Given the description of an element on the screen output the (x, y) to click on. 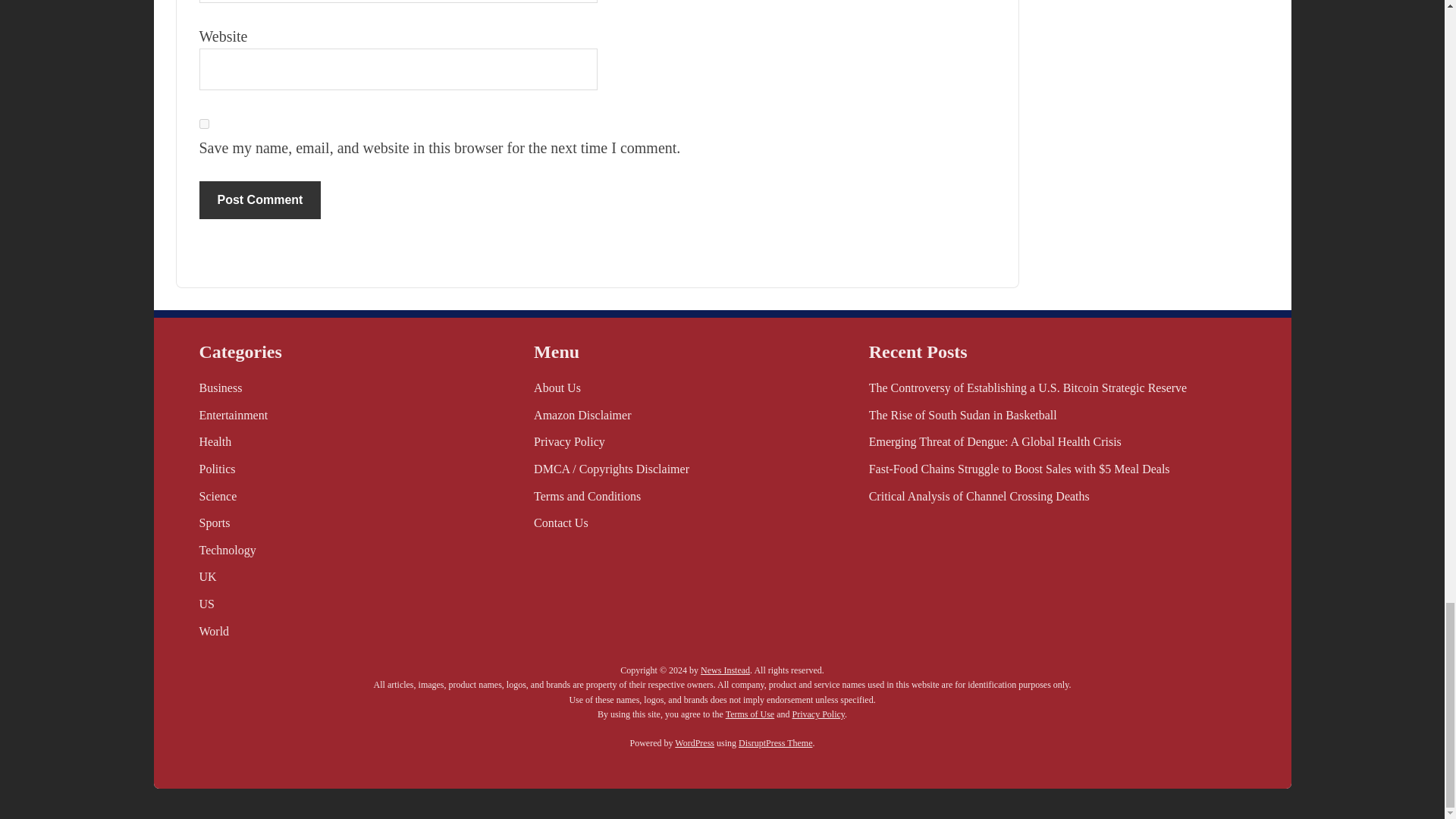
yes (203, 123)
Post Comment (259, 199)
